Given the description of an element on the screen output the (x, y) to click on. 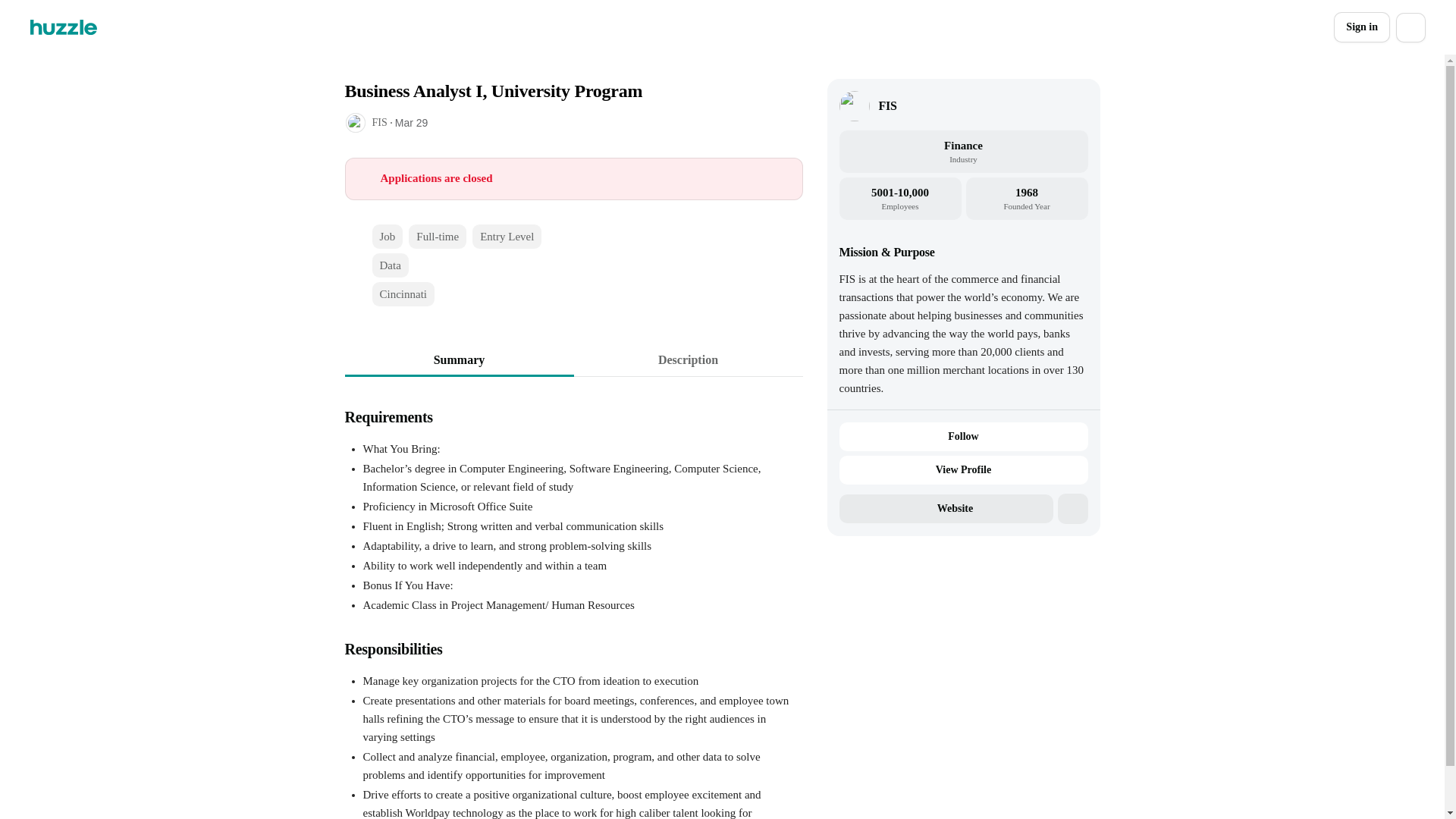
FIS (379, 122)
Sign in (1361, 27)
Description (687, 359)
Follow (962, 436)
Summary (458, 359)
FIS (886, 105)
Website (945, 508)
View Profile (962, 469)
